Given the description of an element on the screen output the (x, y) to click on. 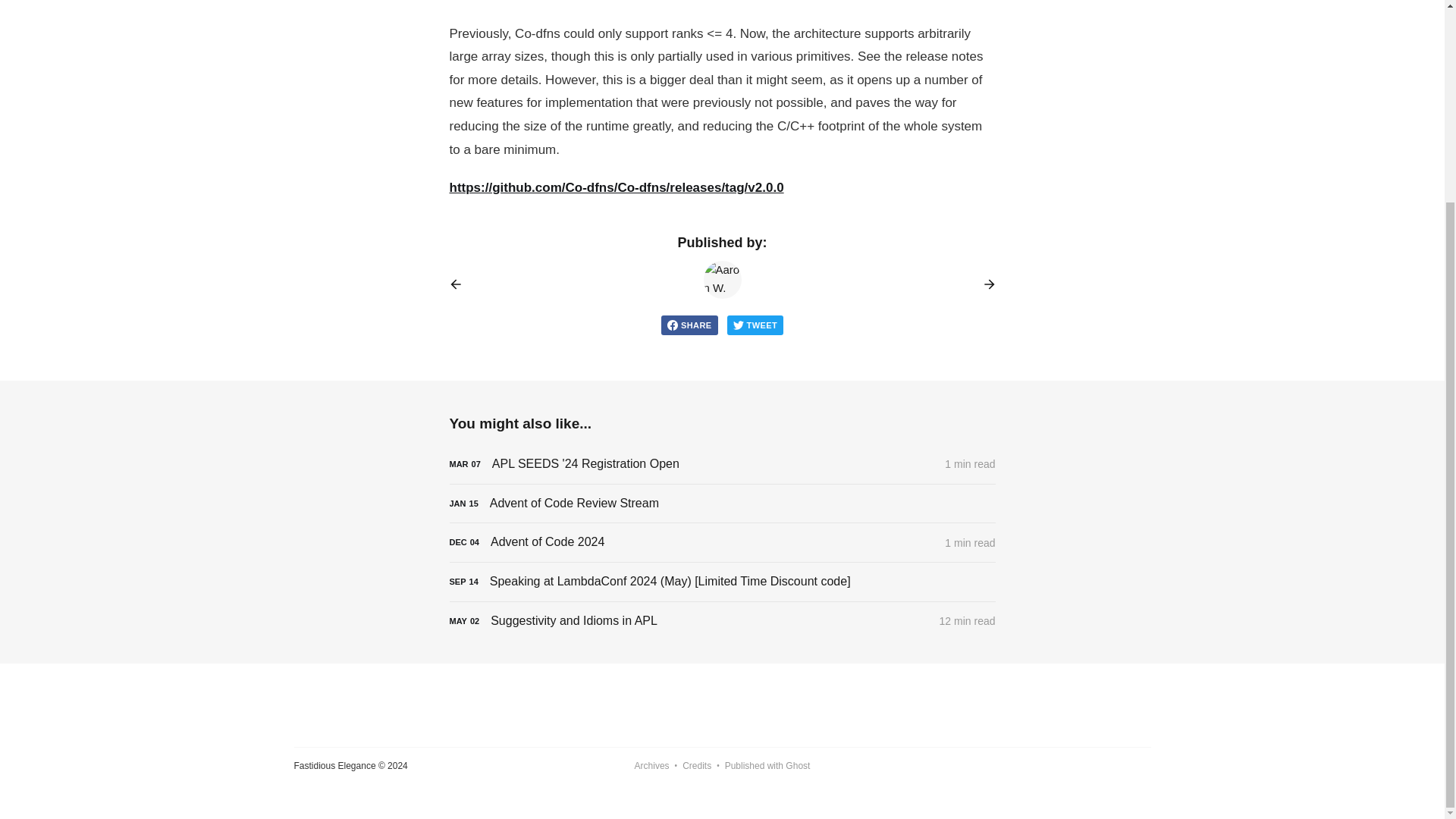
Archives (651, 766)
Credits (696, 766)
SHARE (689, 324)
Published with Ghost (767, 766)
TWEET (755, 324)
